Given the description of an element on the screen output the (x, y) to click on. 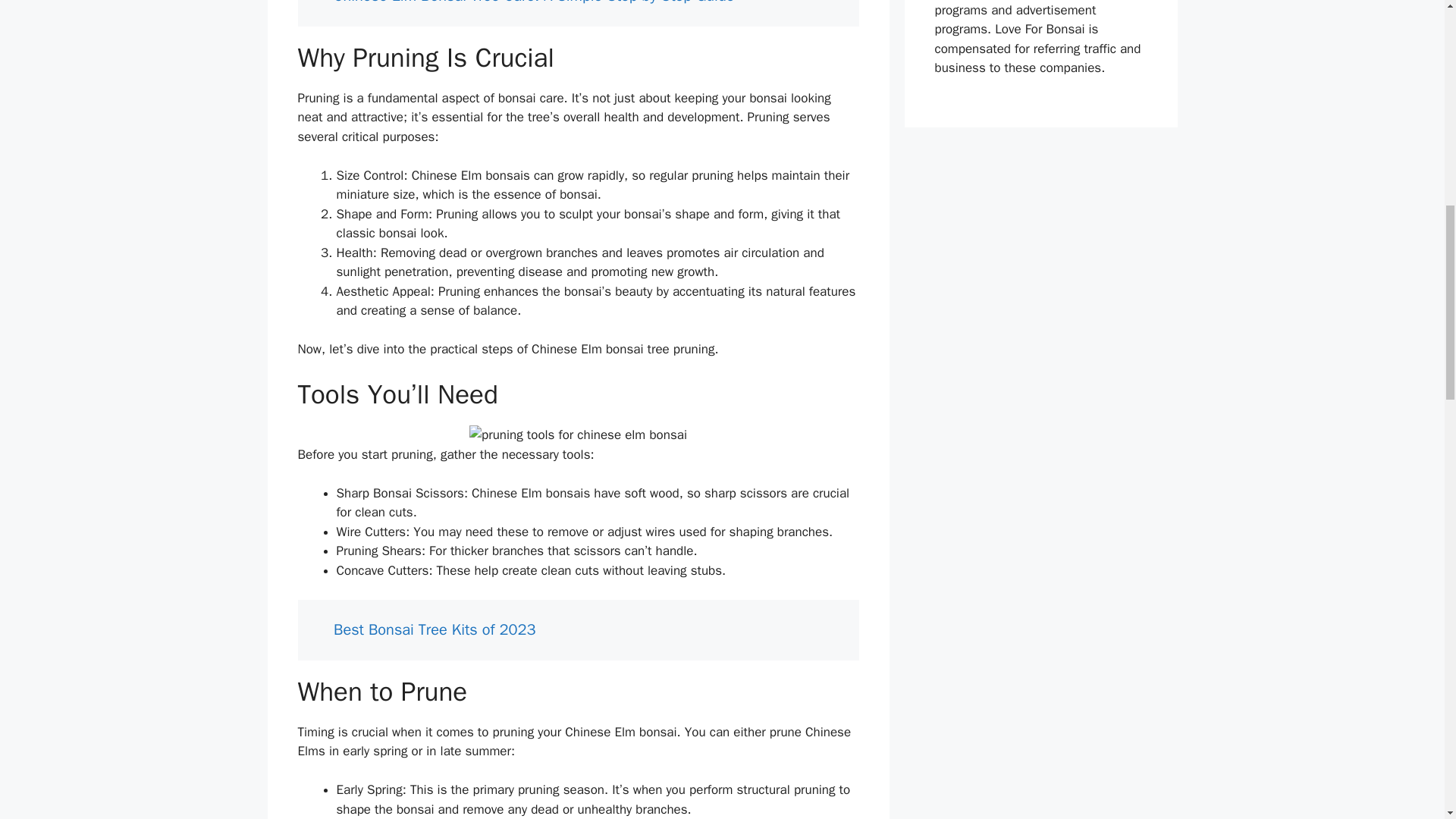
Best Bonsai Tree Kits of 2023 (434, 629)
Chinese Elm Bonsai Tree Care: A Simple Step-by-Step Guide (533, 2)
